Given the description of an element on the screen output the (x, y) to click on. 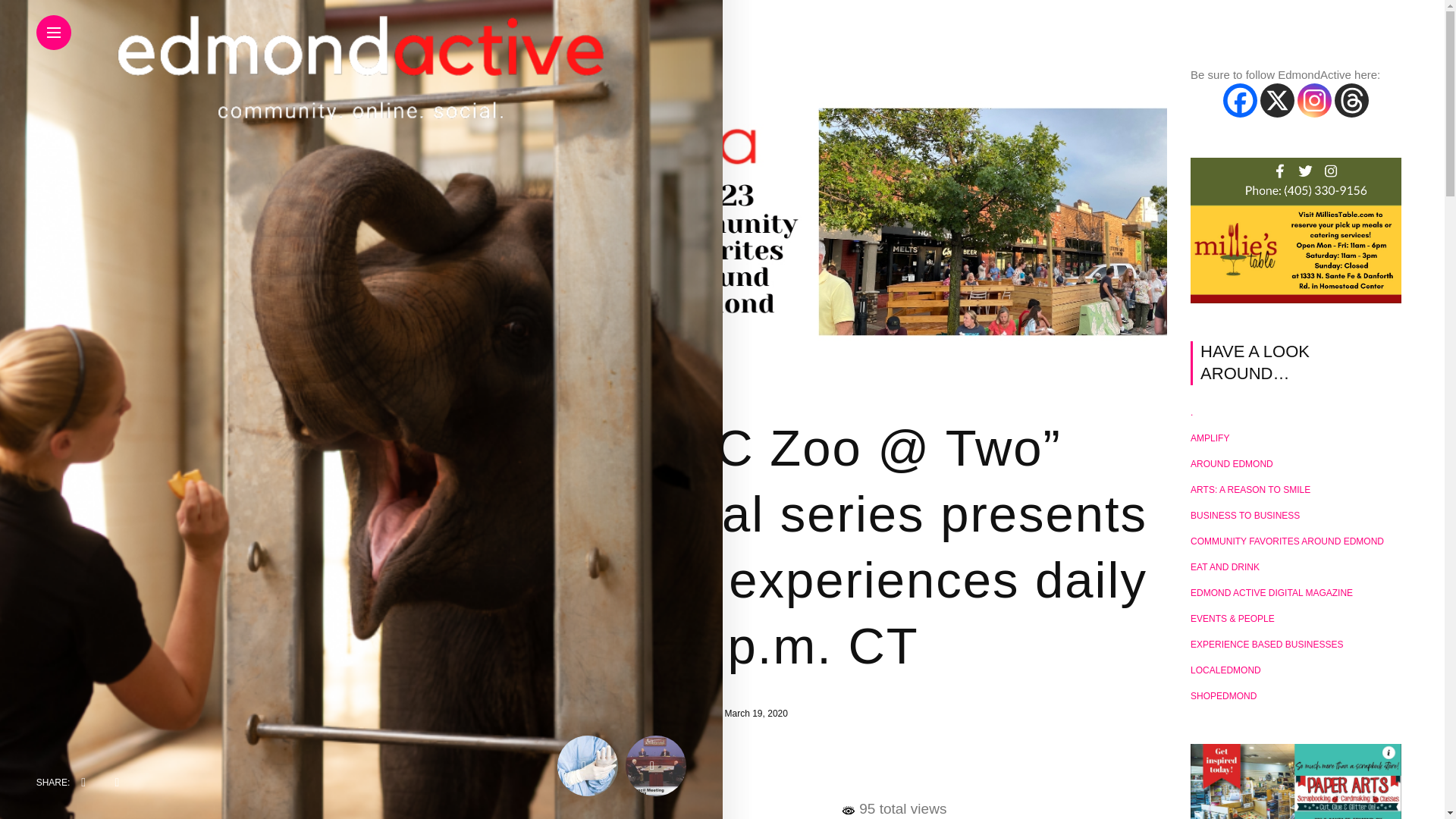
X (676, 777)
Instagram (1314, 100)
Posts by sherri hultner (681, 713)
Facebook (639, 777)
X (1277, 100)
Facebook (1240, 100)
AROUND EDMOND (665, 397)
Threads (1351, 100)
sherri hultner (681, 713)
